Given the description of an element on the screen output the (x, y) to click on. 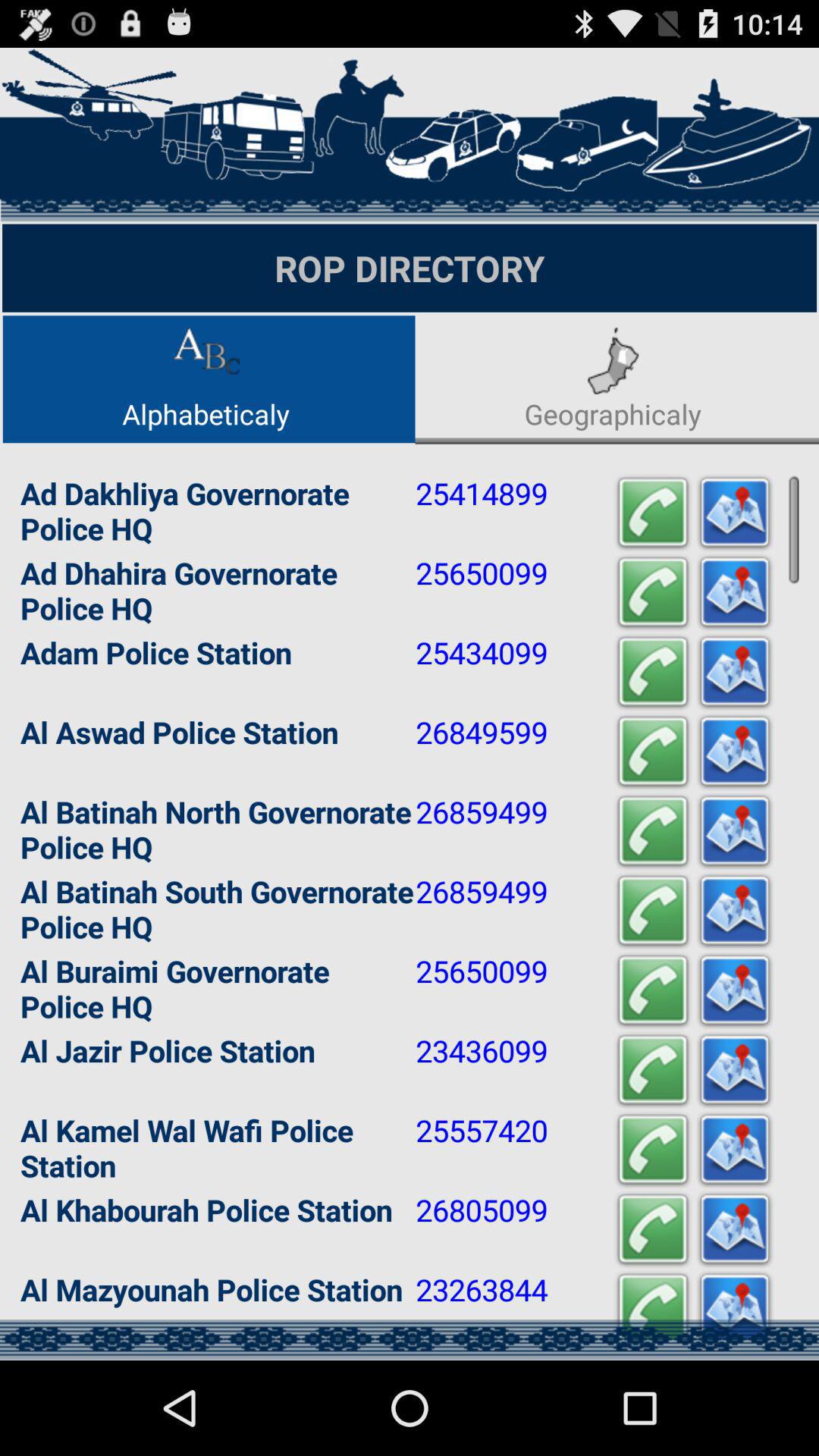
call adam police station (652, 672)
